Given the description of an element on the screen output the (x, y) to click on. 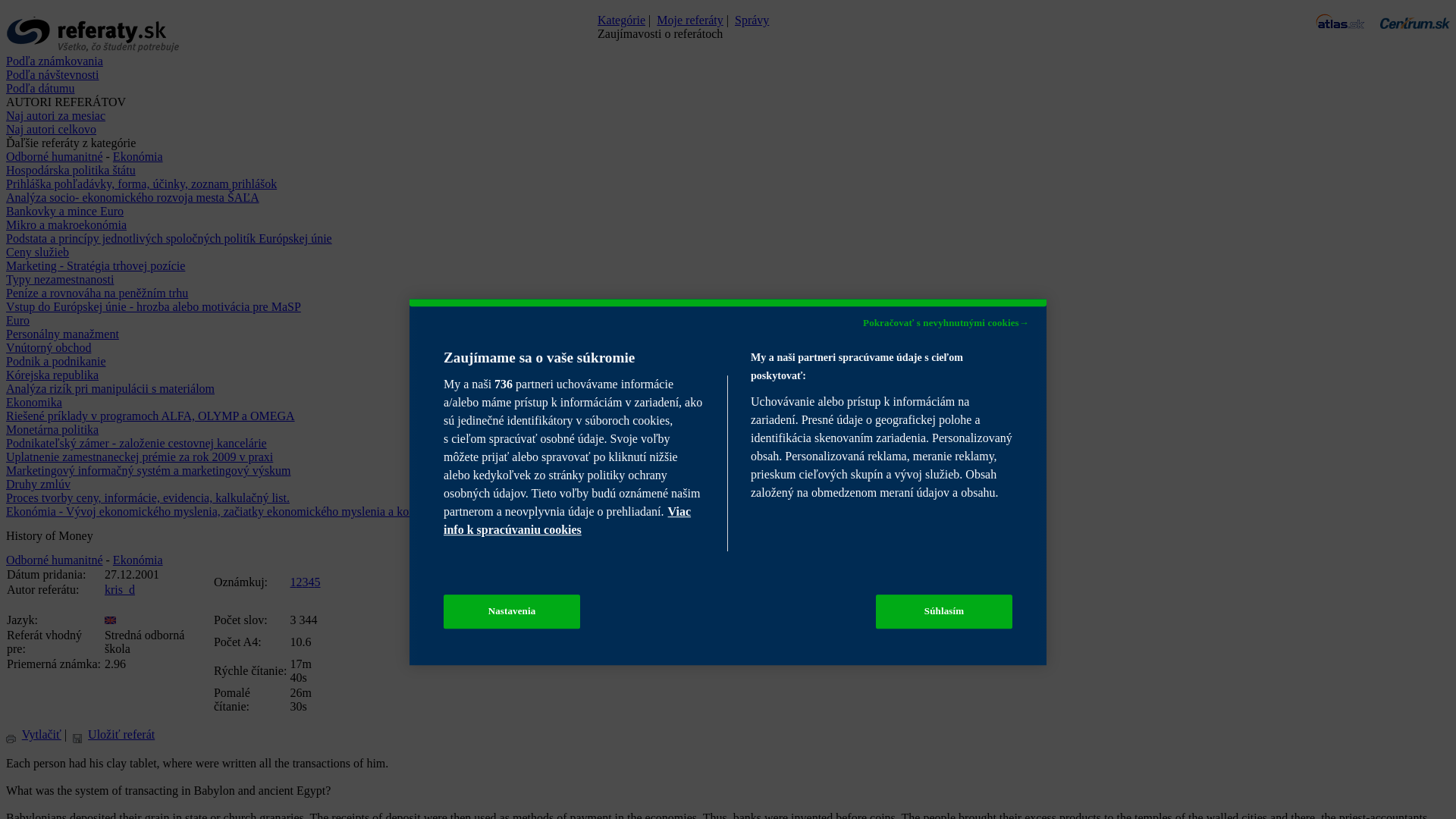
Ekonomika (33, 401)
Bankovky a mince Euro (64, 210)
Naj autori za mesiac (54, 115)
ATLAS.SK (1340, 20)
Naj autori celkovo (50, 128)
Euro (17, 319)
Typy nezamestnanosti (59, 278)
Podnik a podnikanie (55, 360)
